Given the description of an element on the screen output the (x, y) to click on. 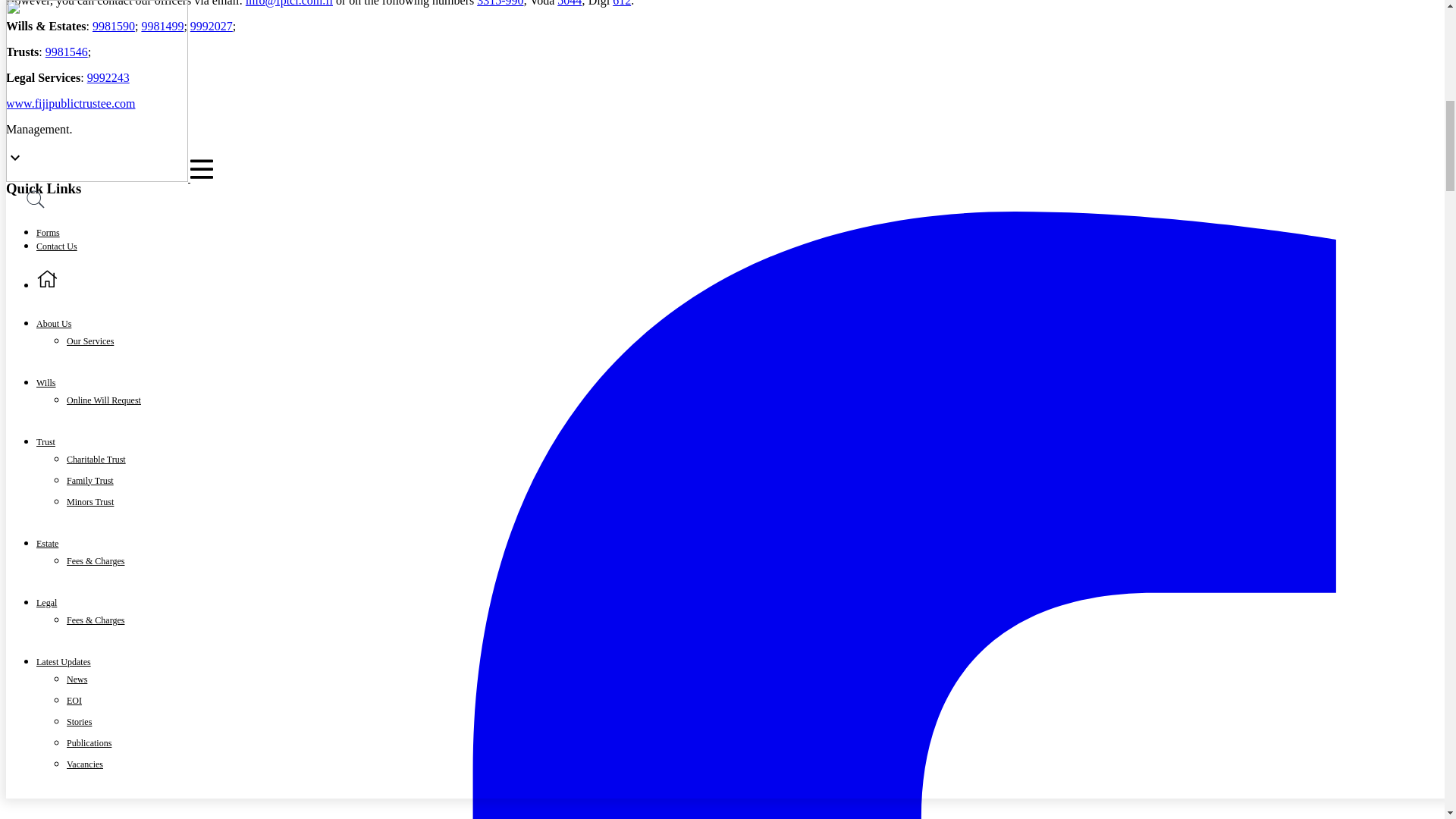
612 (621, 3)
5044 (568, 3)
3315-990 (499, 3)
